Given the description of an element on the screen output the (x, y) to click on. 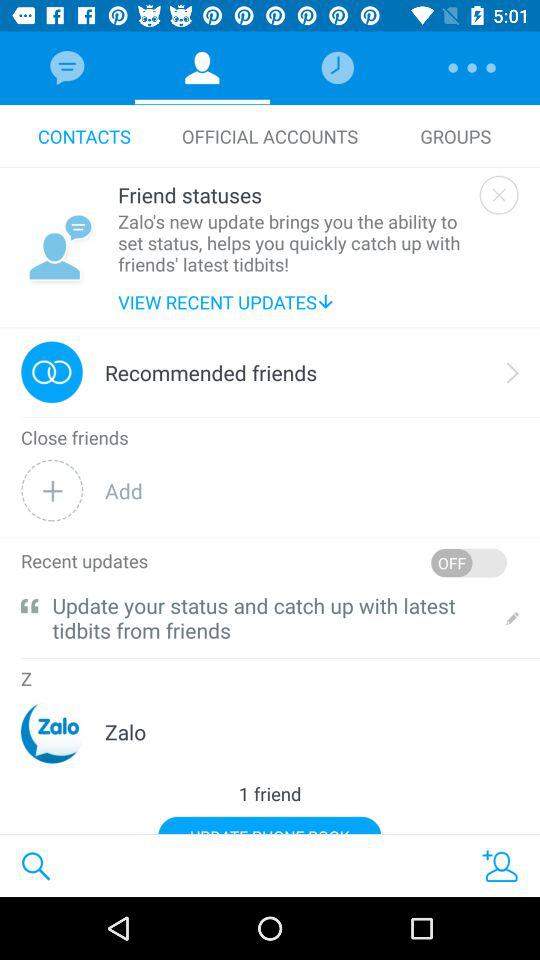
select the item above zalo s new (294, 194)
